Given the description of an element on the screen output the (x, y) to click on. 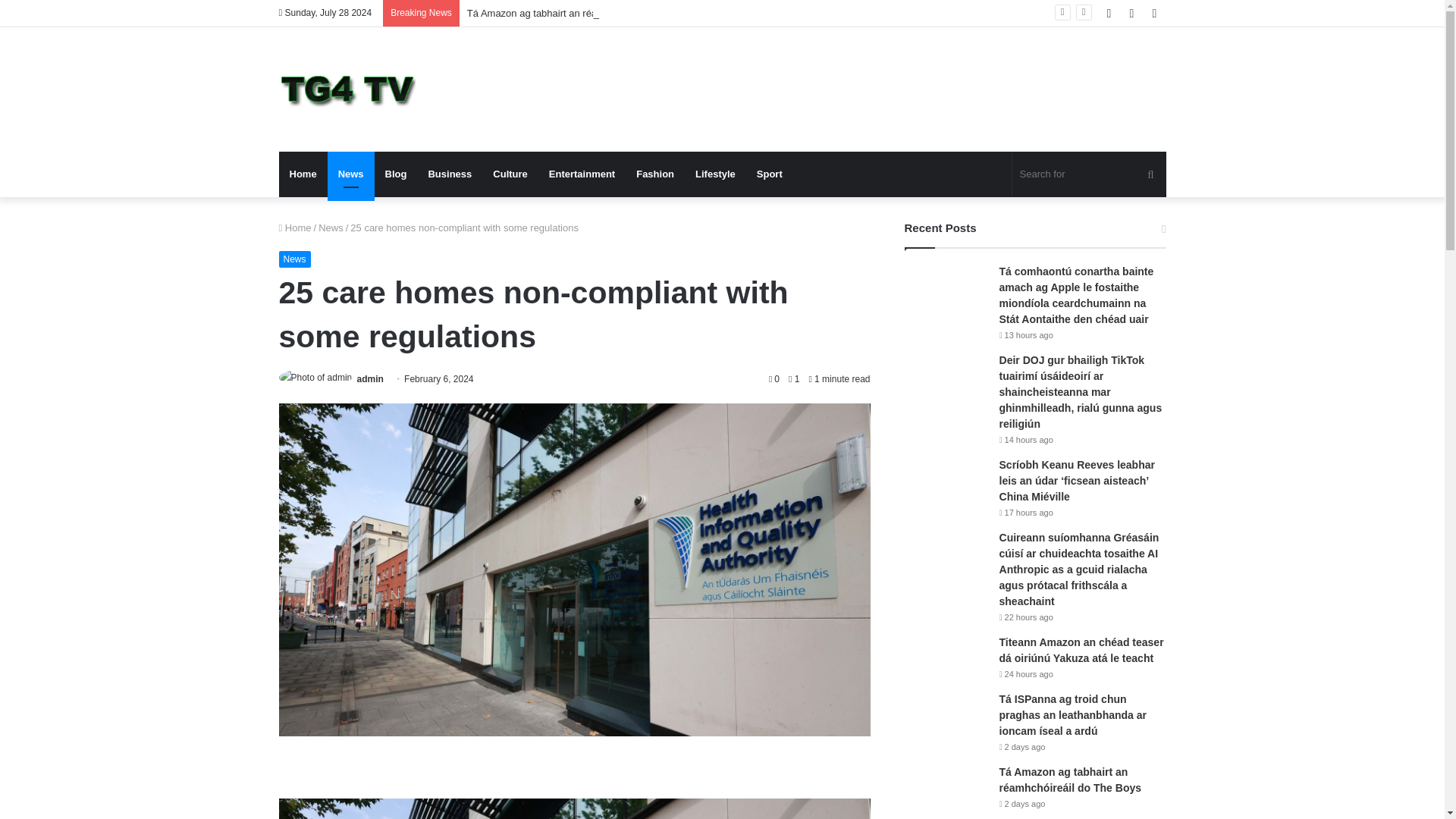
Culture (509, 174)
Log In (1109, 13)
Sport (769, 174)
News (330, 227)
Fashion (655, 174)
Home (295, 227)
Random Article (1131, 13)
News (350, 174)
Random Article (1131, 13)
TG4 TV (346, 89)
Sidebar (1154, 13)
admin (370, 378)
Entertainment (582, 174)
Home (303, 174)
Search for (1088, 174)
